Given the description of an element on the screen output the (x, y) to click on. 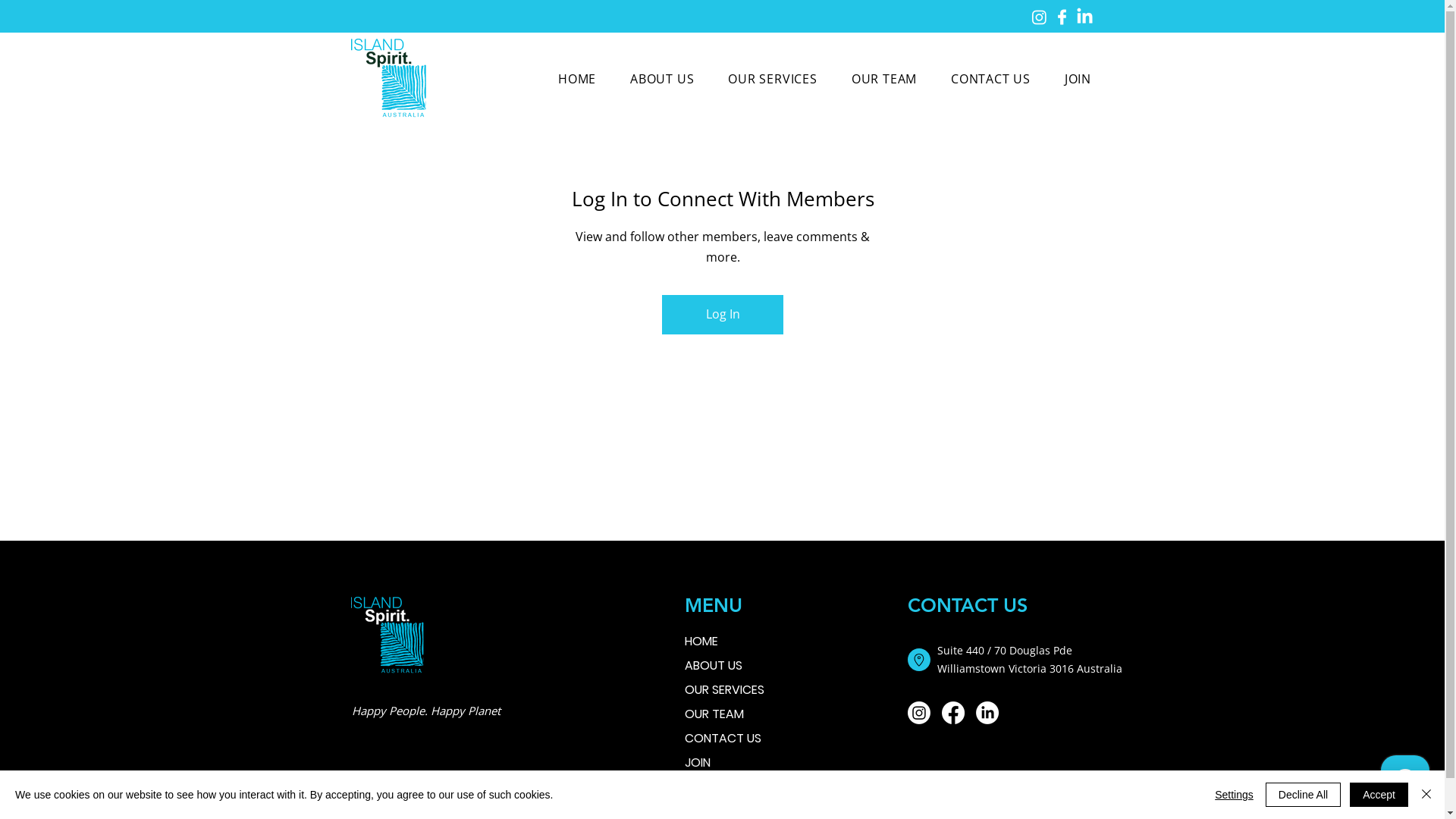
Accept Element type: text (1378, 794)
ABOUT US Element type: text (737, 665)
OUR SERVICES Element type: text (772, 78)
ABOUT US Element type: text (662, 78)
OUR SERVICES Element type: text (737, 689)
CONTACT US Element type: text (990, 78)
JOIN Element type: text (1077, 78)
JOIN Element type: text (737, 762)
Members Element type: hover (721, 261)
OUR TEAM Element type: text (883, 78)
CONTACT US Element type: text (737, 738)
HOME Element type: text (737, 641)
Decline All Element type: text (1302, 794)
OUR TEAM Element type: text (737, 714)
HOME Element type: text (577, 78)
